Given the description of an element on the screen output the (x, y) to click on. 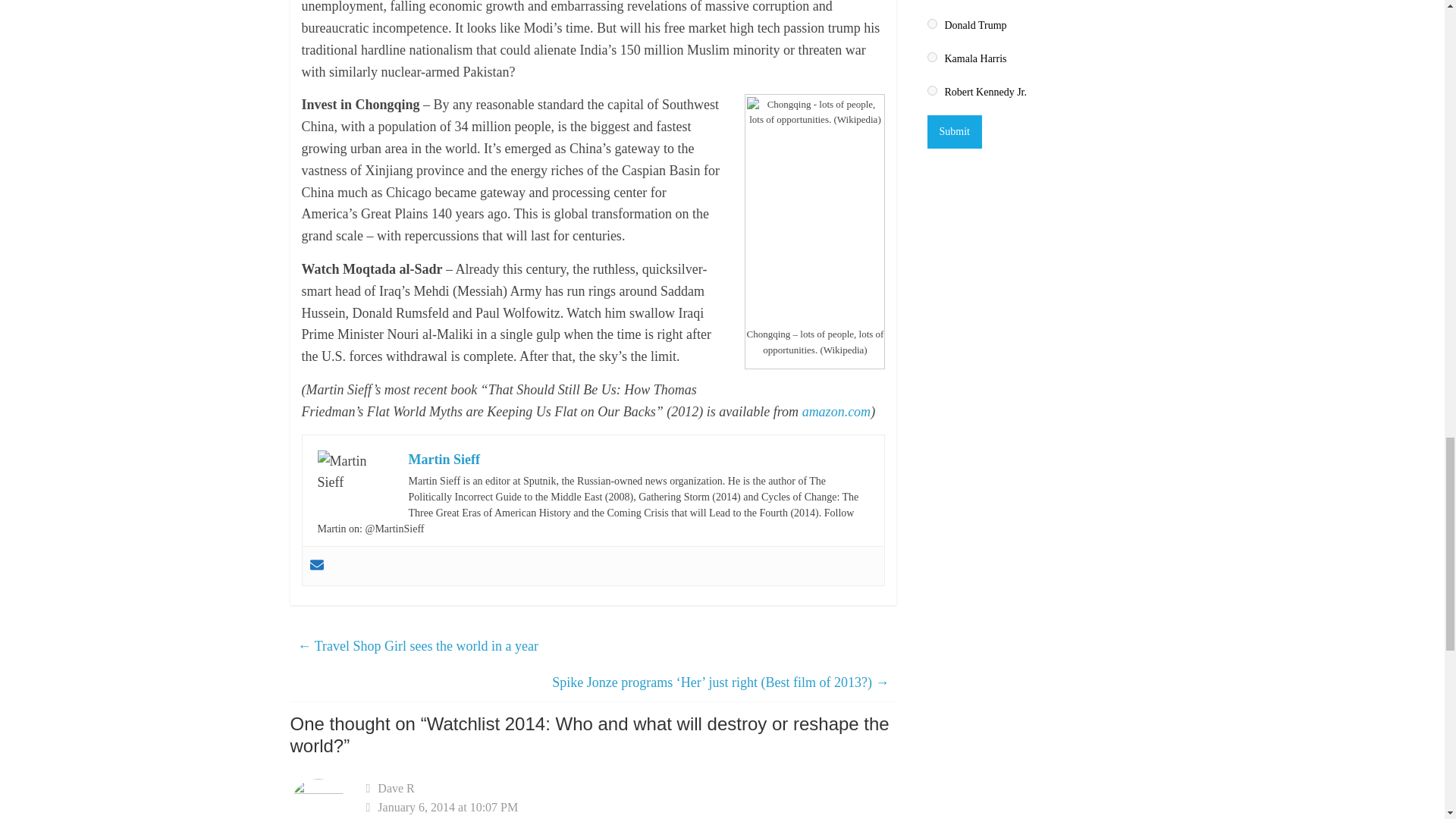
1 (931, 23)
3 (931, 90)
amazon.com (836, 411)
2 (931, 57)
Martin Sieff (443, 459)
